Given the description of an element on the screen output the (x, y) to click on. 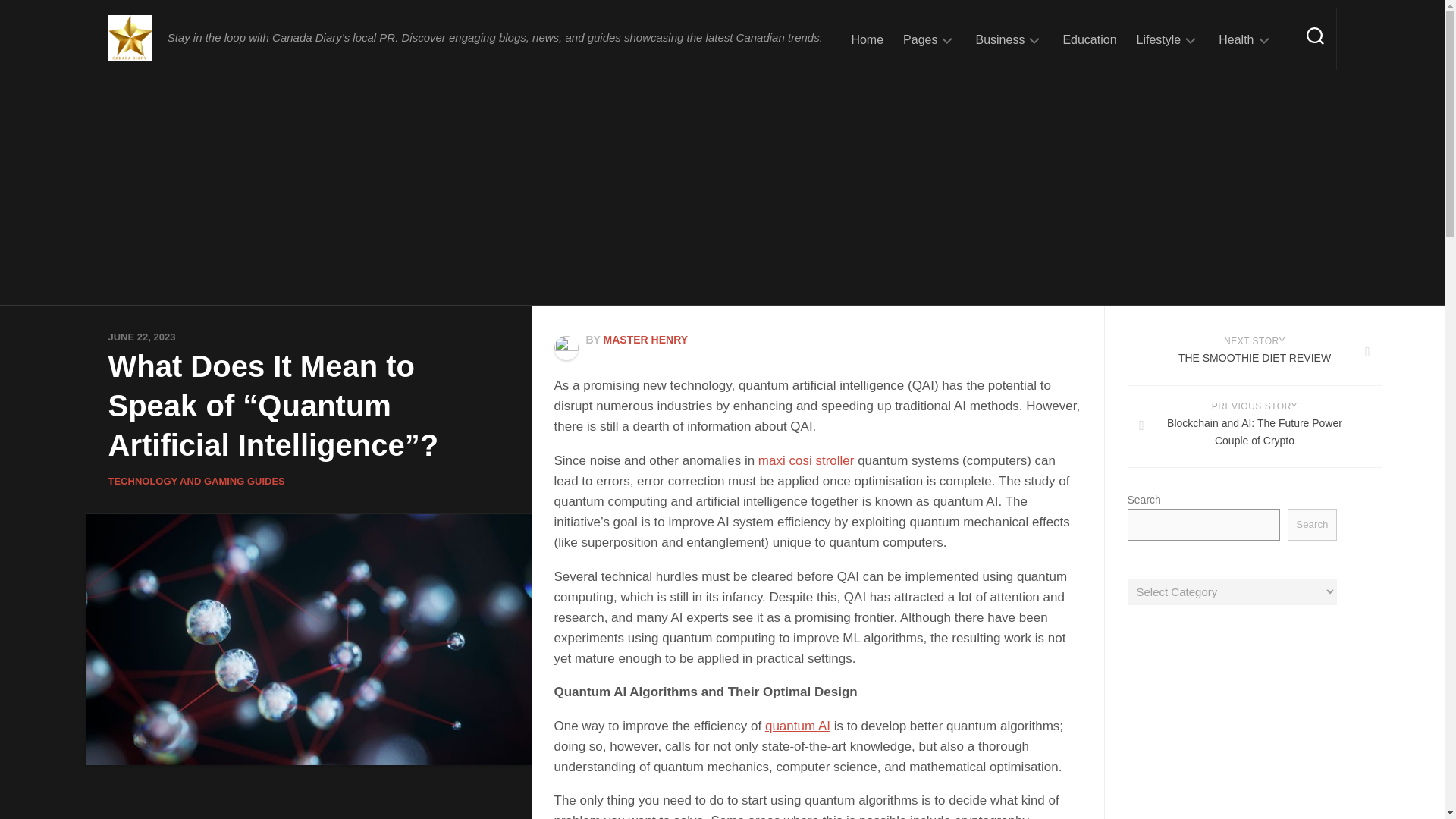
Business (1000, 39)
Home (866, 39)
Lifestyle (1158, 39)
MASTER HENRY (646, 339)
maxi cosi stroller (806, 460)
Education (1089, 39)
Health (1235, 39)
TECHNOLOGY AND GAMING GUIDES (195, 480)
Posts by Master Henry (646, 339)
quantum AI (797, 726)
